Given the description of an element on the screen output the (x, y) to click on. 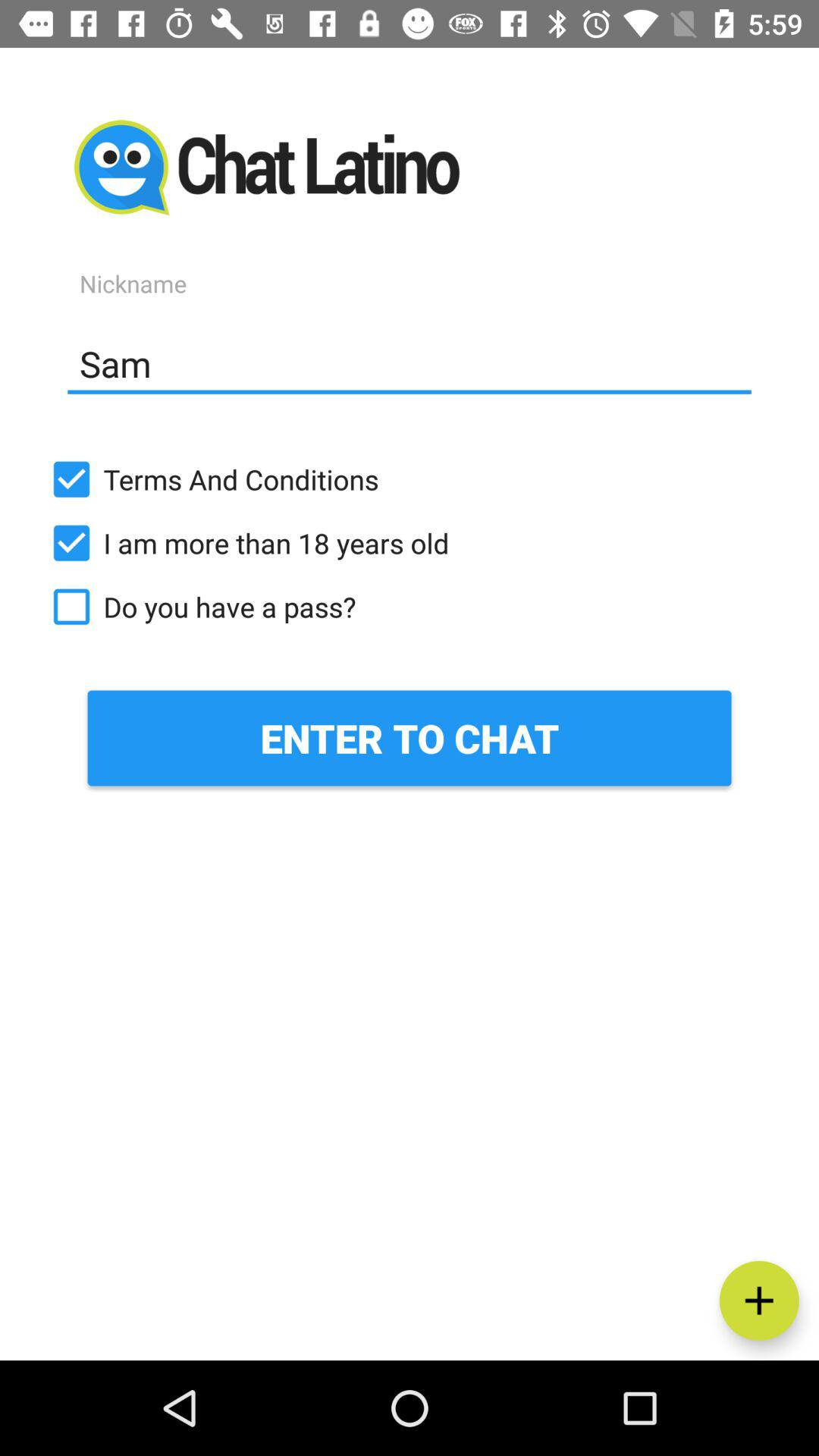
launch icon above the do you have item (409, 543)
